Given the description of an element on the screen output the (x, y) to click on. 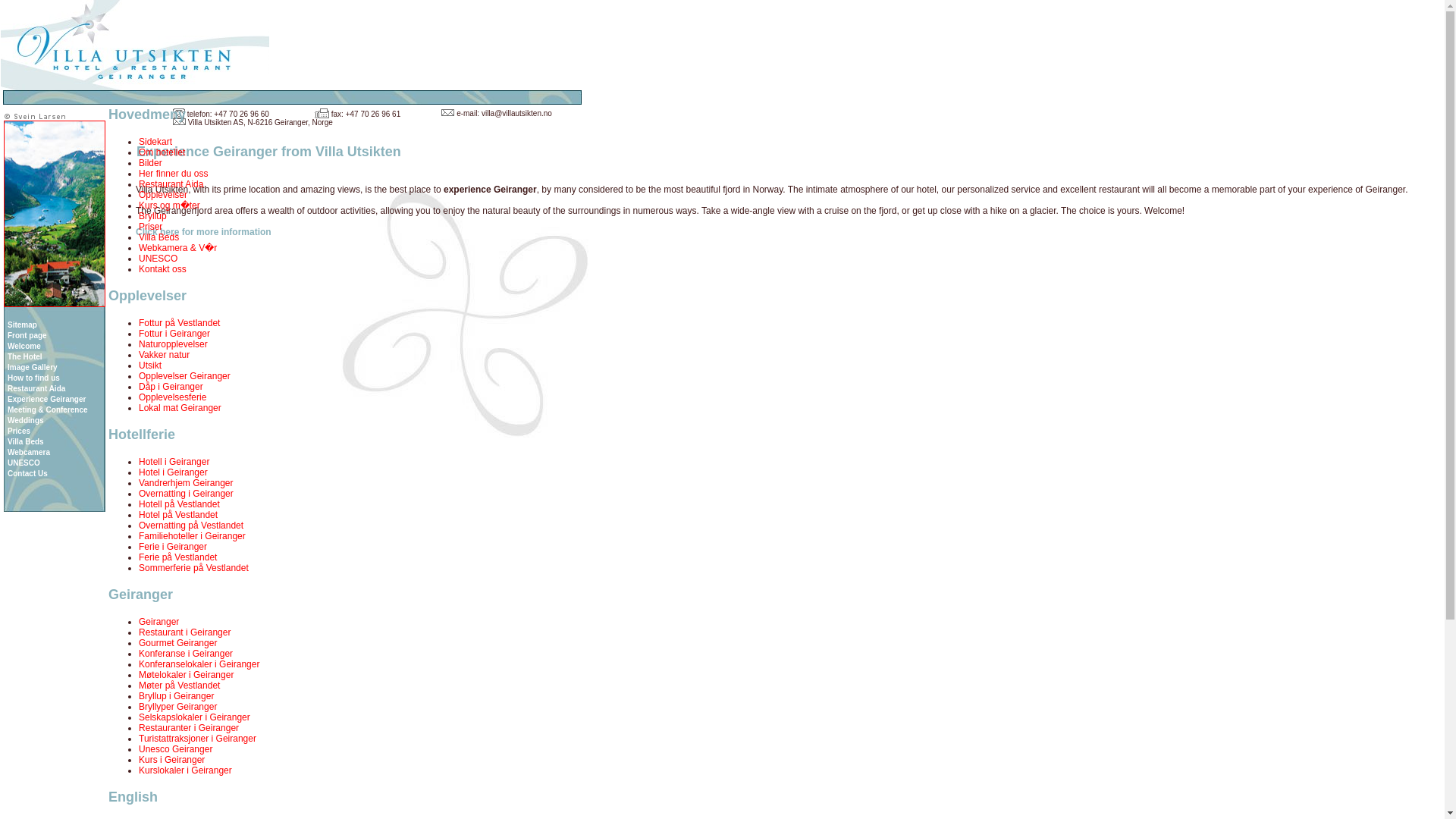
Villa Beds (158, 236)
Opplevelser (162, 194)
Restaurant i Geiranger (184, 632)
Utsikt (149, 365)
Bryllup (152, 215)
Overnatting i Geiranger (185, 493)
Ferie i Geiranger (172, 546)
Her finner du oss (173, 173)
UNESCO (157, 258)
Vandrerhjem Geiranger (185, 482)
